Given the description of an element on the screen output the (x, y) to click on. 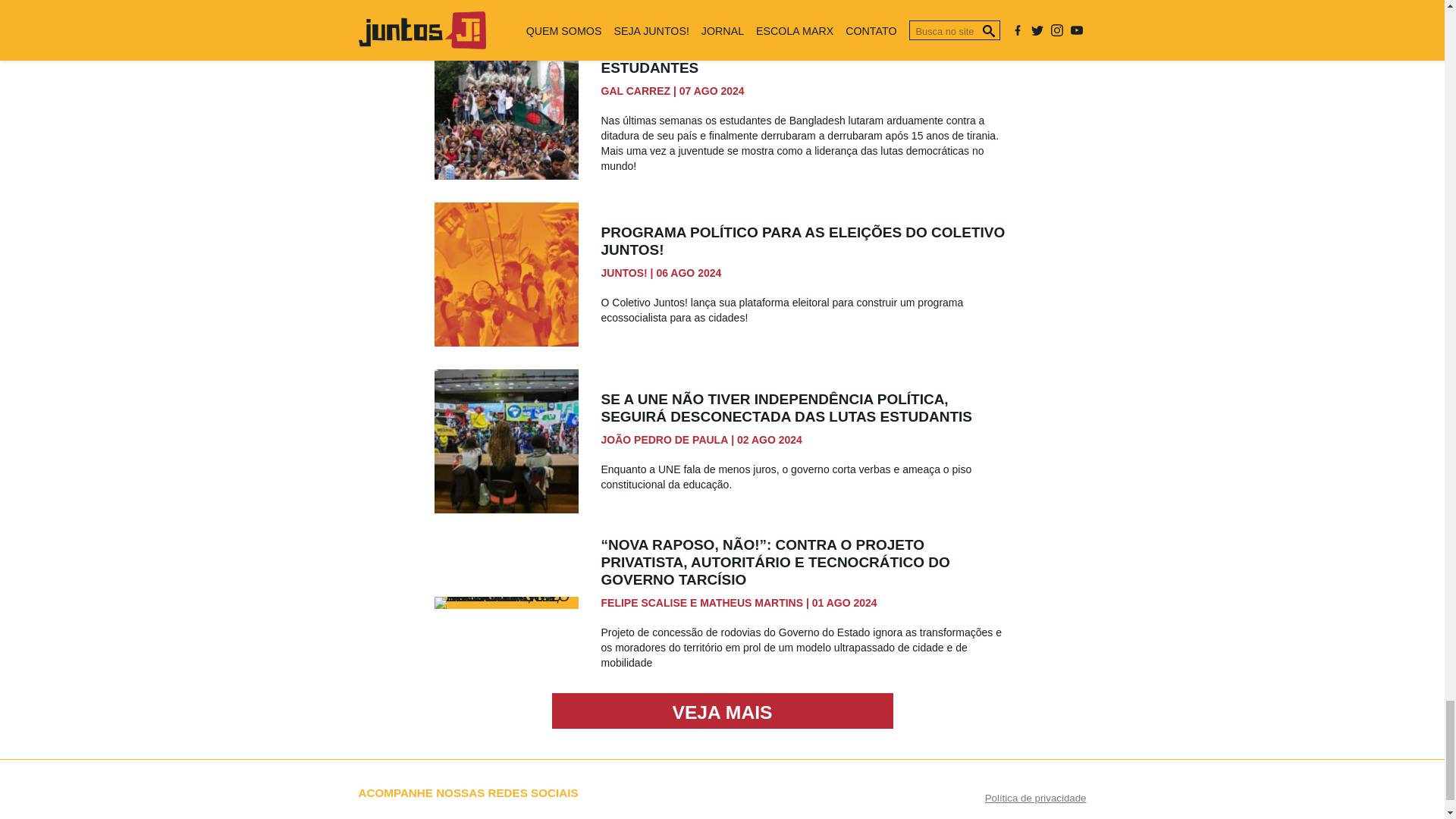
GAL CARREZ (634, 91)
MATHEUS MARTINS (751, 603)
VEJA MAIS (722, 710)
JUNTOS! (622, 272)
FELIPE SCALISE (643, 603)
